Given the description of an element on the screen output the (x, y) to click on. 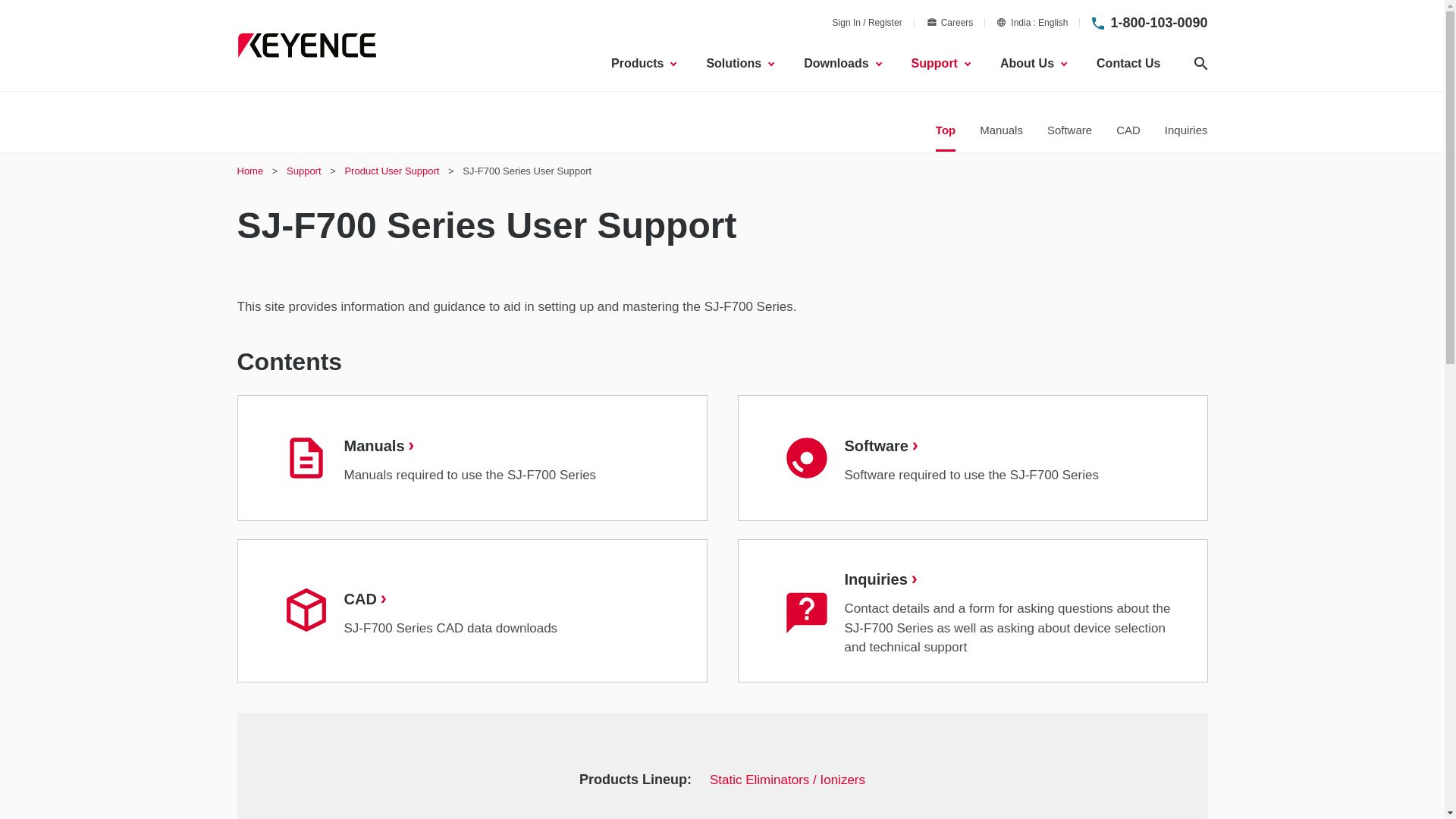
Careers (950, 22)
1-800-103-0090 (1032, 22)
Products (1158, 22)
